Given the description of an element on the screen output the (x, y) to click on. 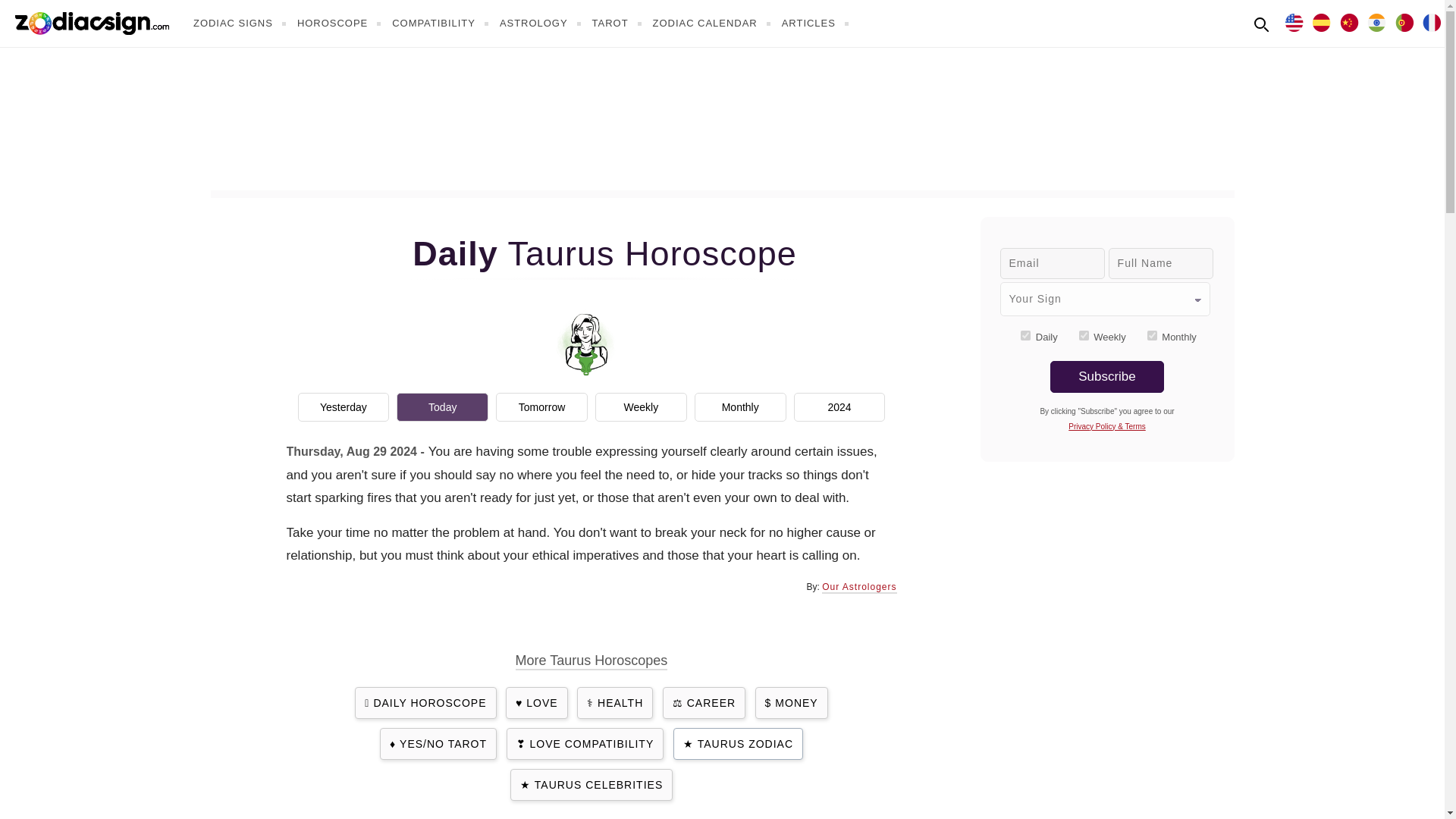
In English (1294, 21)
daily (1025, 335)
weekly (1083, 335)
monthly (1152, 335)
ZODIAC SIGNS (241, 23)
HOROSCOPE (341, 23)
